Given the description of an element on the screen output the (x, y) to click on. 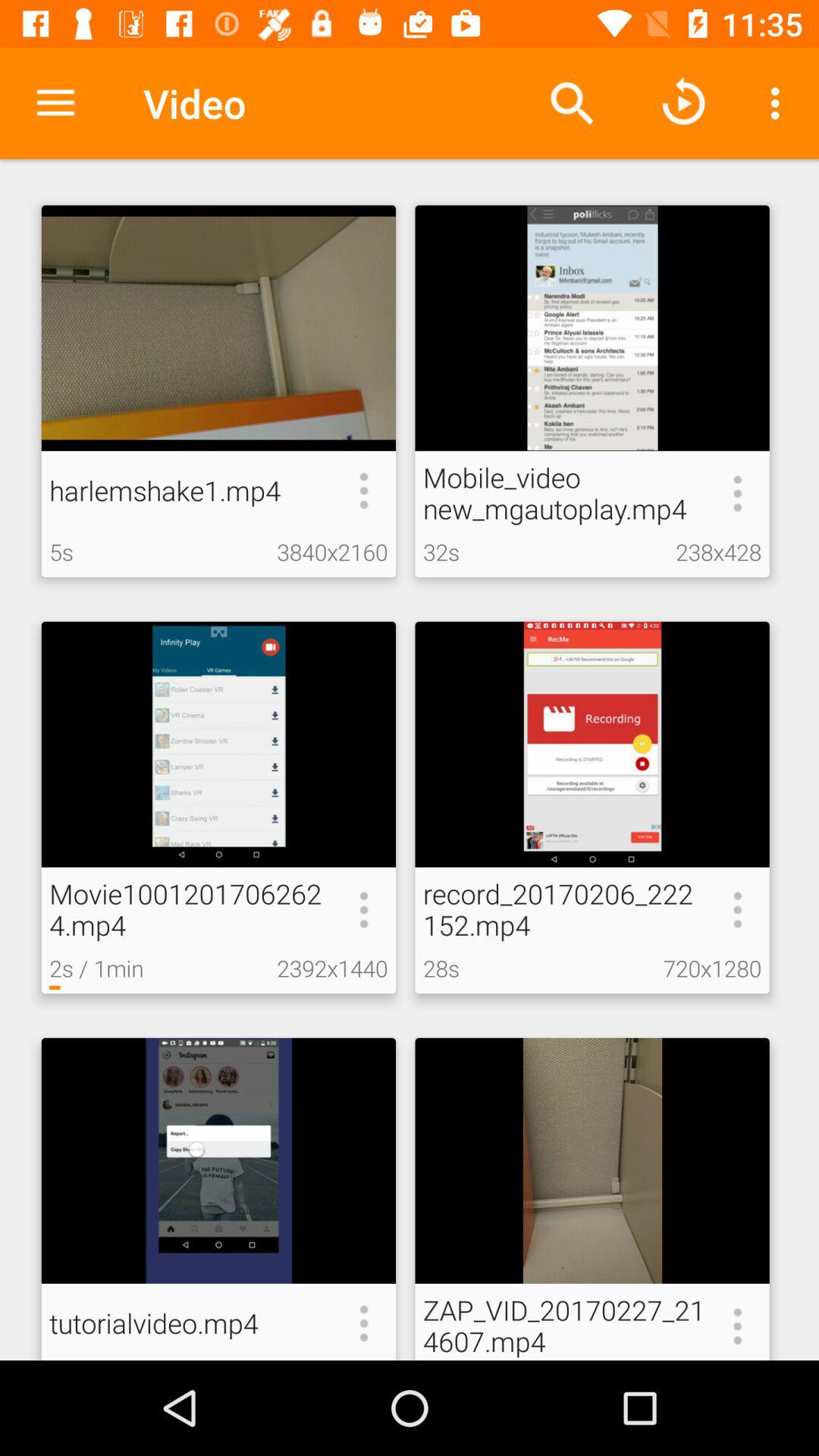
click the icon to the left of the video (55, 103)
